Given the description of an element on the screen output the (x, y) to click on. 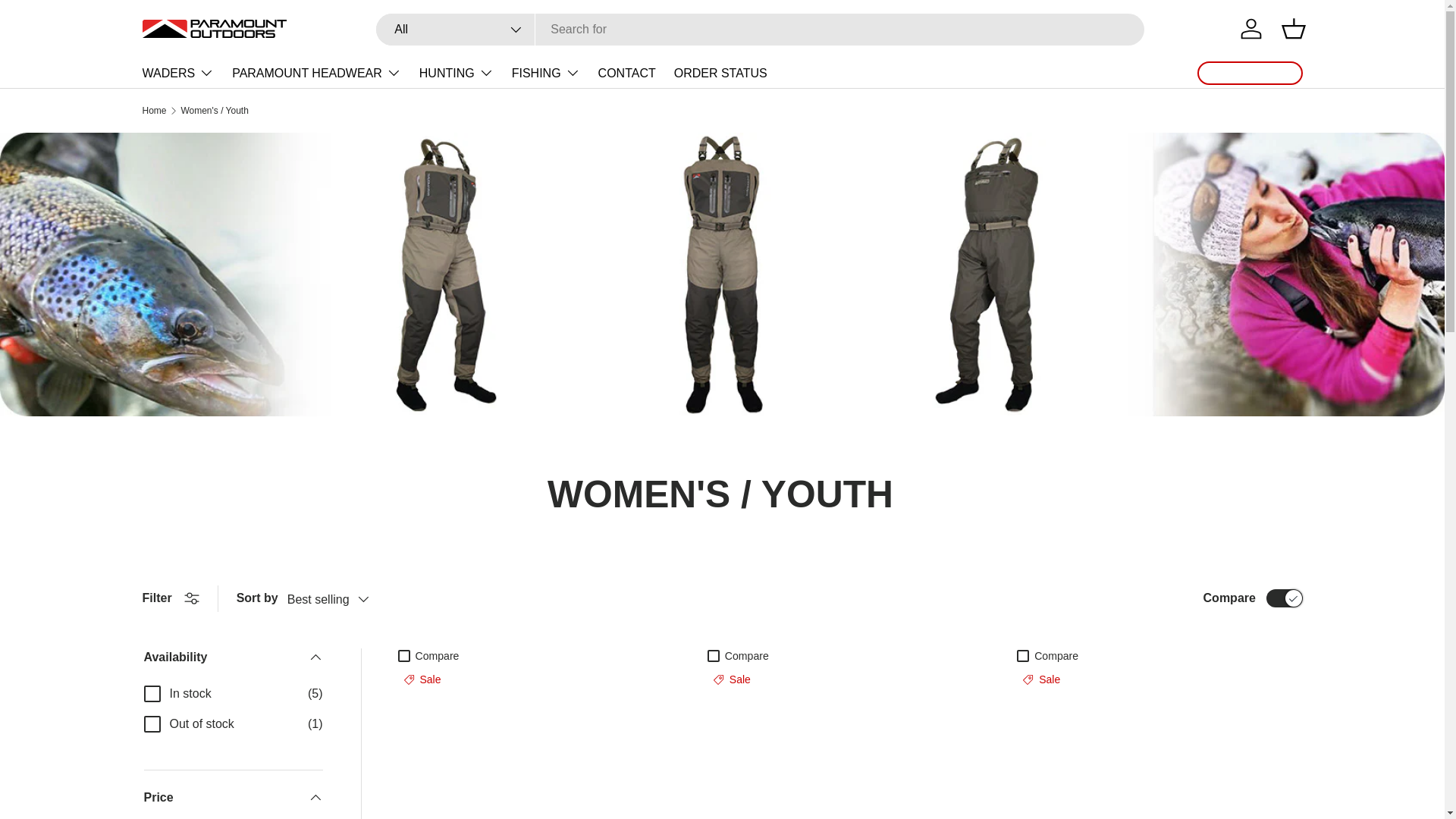
PARAMOUNT HEADWEAR (316, 72)
Contact Us (1249, 73)
SKIP TO CONTENT (69, 21)
WADERS (178, 72)
FISHING (545, 72)
HUNTING (456, 72)
Basket (1293, 28)
CONTACT (627, 72)
All (455, 29)
ORDER STATUS (720, 72)
Log in (1251, 28)
